Given the description of an element on the screen output the (x, y) to click on. 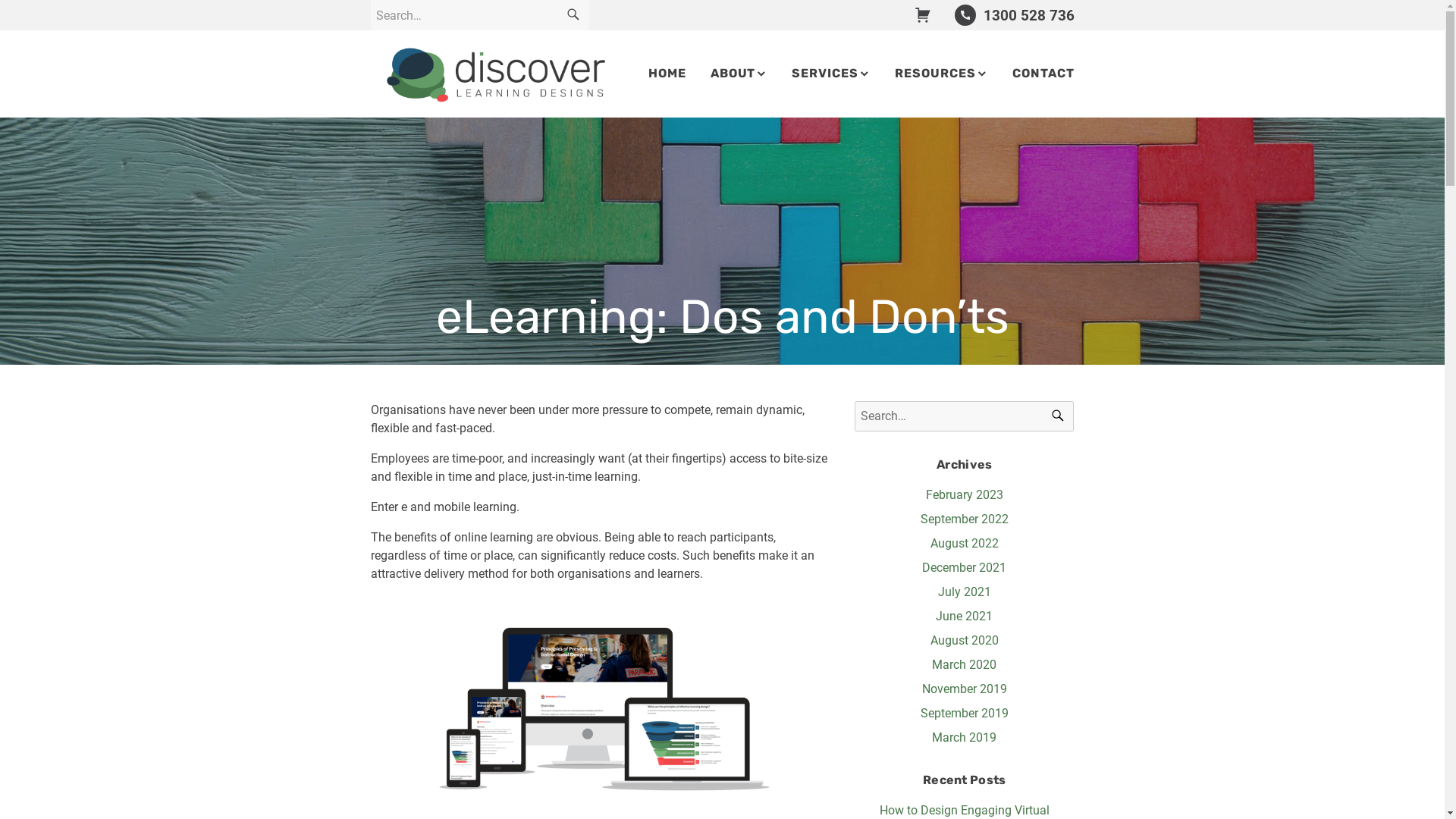
1300 528 736 Element type: text (1014, 14)
ABOUT Element type: text (739, 73)
December 2021 Element type: text (964, 567)
SERVICES Element type: text (830, 73)
June 2021 Element type: text (963, 615)
September 2022 Element type: text (964, 518)
August 2020 Element type: text (964, 640)
Search Element type: hover (1057, 416)
CONTACT Element type: text (1043, 73)
March 2020 Element type: text (963, 664)
August 2022 Element type: text (964, 543)
February 2023 Element type: text (964, 494)
HOME Element type: text (667, 73)
RESOURCES Element type: text (941, 73)
Search Element type: hover (572, 15)
November 2019 Element type: text (964, 688)
March 2019 Element type: text (963, 737)
September 2019 Element type: text (964, 713)
July 2021 Element type: text (964, 591)
